Given the description of an element on the screen output the (x, y) to click on. 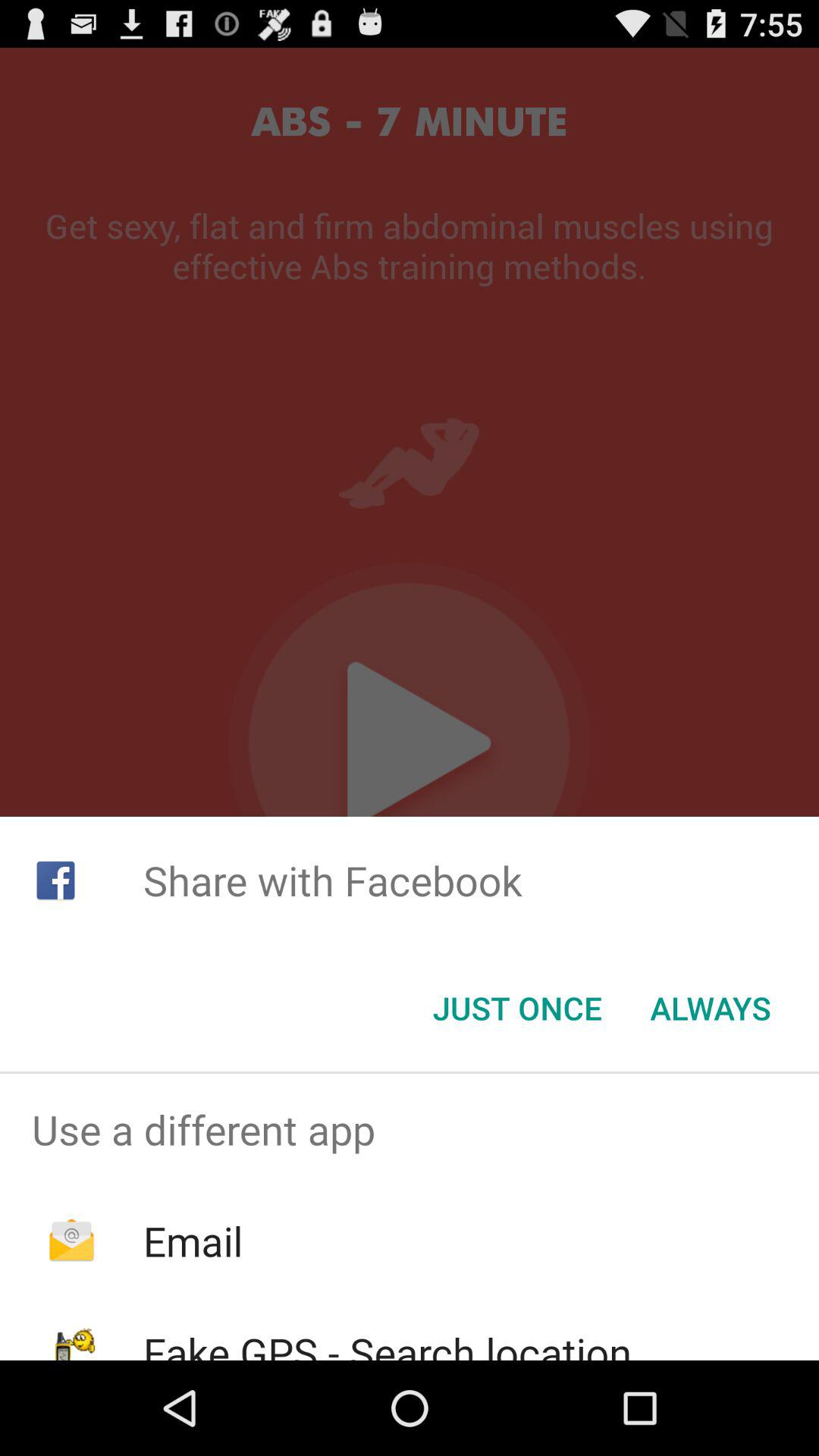
turn on the app below use a different icon (192, 1240)
